Given the description of an element on the screen output the (x, y) to click on. 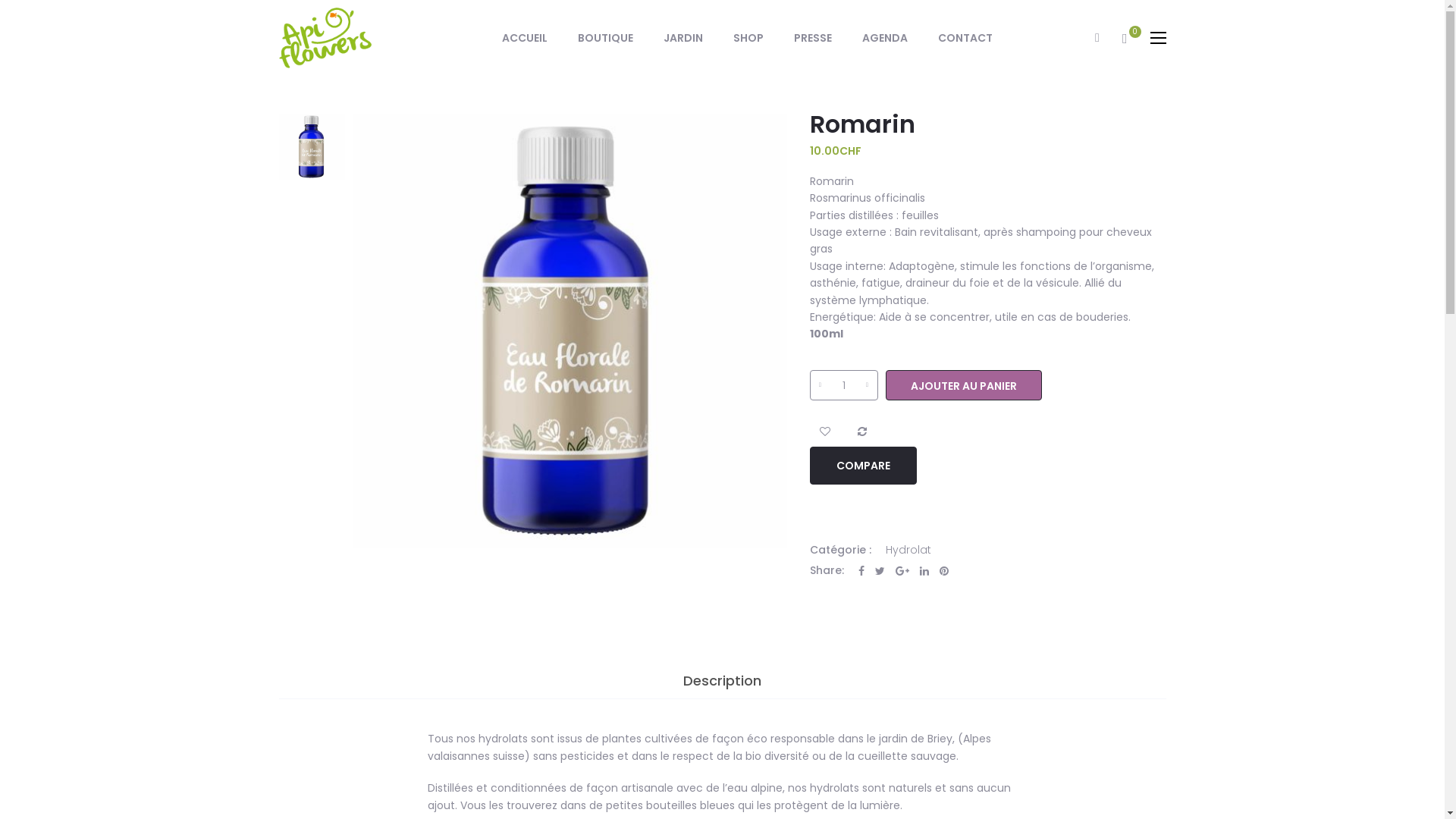
JARDIN Element type: text (682, 37)
Qty Element type: hover (843, 385)
PRESSE Element type: text (812, 37)
ACCUEIL Element type: text (524, 37)
COMPARE Element type: text (862, 465)
Compare Element type: text (861, 431)
BOUTIQUE Element type: text (605, 37)
Apiflowers-Un site utilisant WordPress Element type: hover (325, 36)
CONTACT Element type: text (965, 37)
0 Element type: text (1124, 39)
Hydrolat Element type: text (908, 549)
AGENDA Element type: text (884, 37)
SHOP Element type: text (748, 37)
Description Element type: text (722, 681)
AJOUTER AU PANIER Element type: text (963, 385)
